Given the description of an element on the screen output the (x, y) to click on. 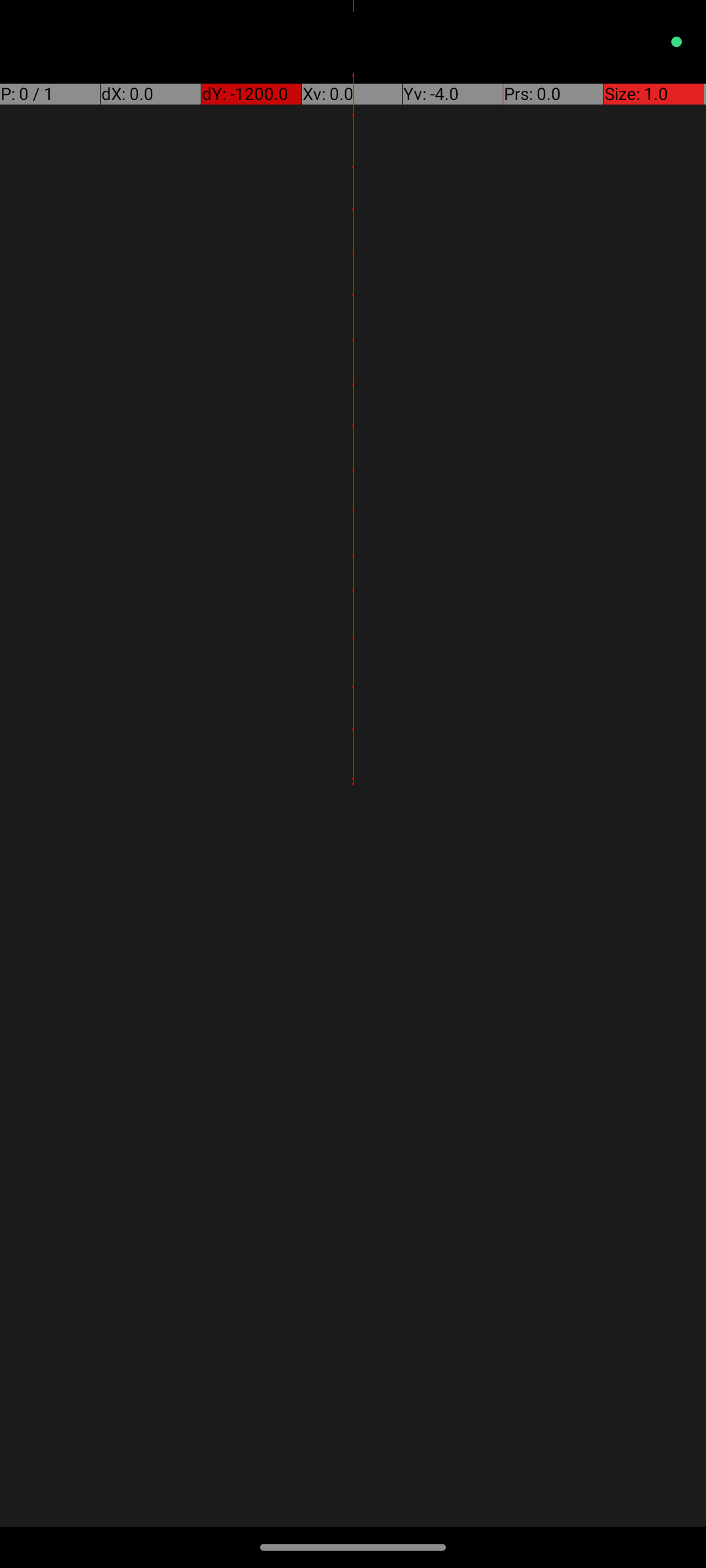
Countdown timer duration is set to 10 seconds Element type: android.widget.ImageButton (197, 1258)
